Given the description of an element on the screen output the (x, y) to click on. 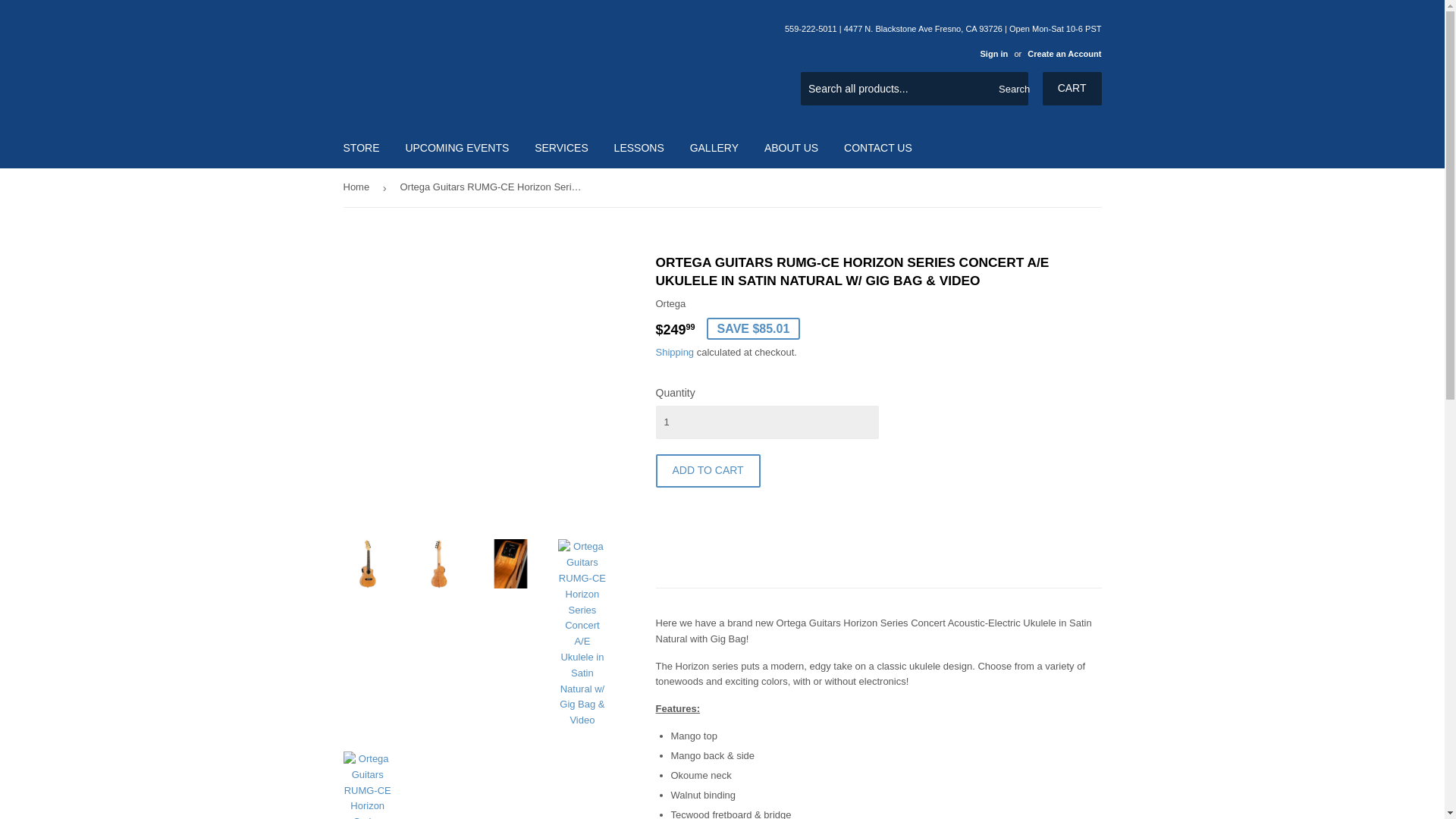
CART (1072, 88)
Sign in (993, 53)
1 (766, 421)
Create an Account (1063, 53)
Search (1010, 89)
